Given the description of an element on the screen output the (x, y) to click on. 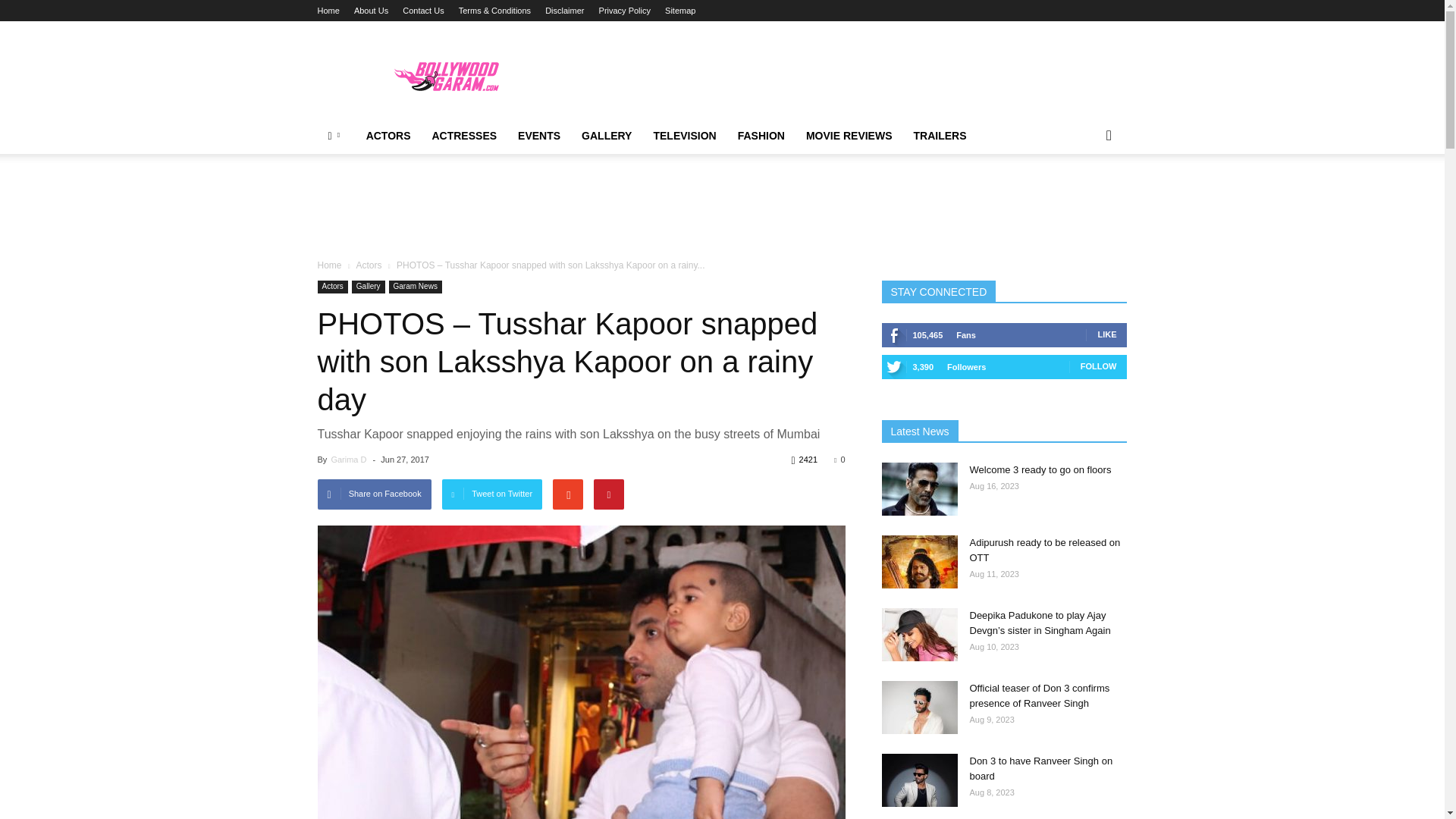
ACTORS (388, 135)
Sitemap (680, 10)
View all posts in Actors (368, 265)
About Us (370, 10)
Disclaimer (563, 10)
Advertisement (721, 202)
Privacy Policy (624, 10)
